Given the description of an element on the screen output the (x, y) to click on. 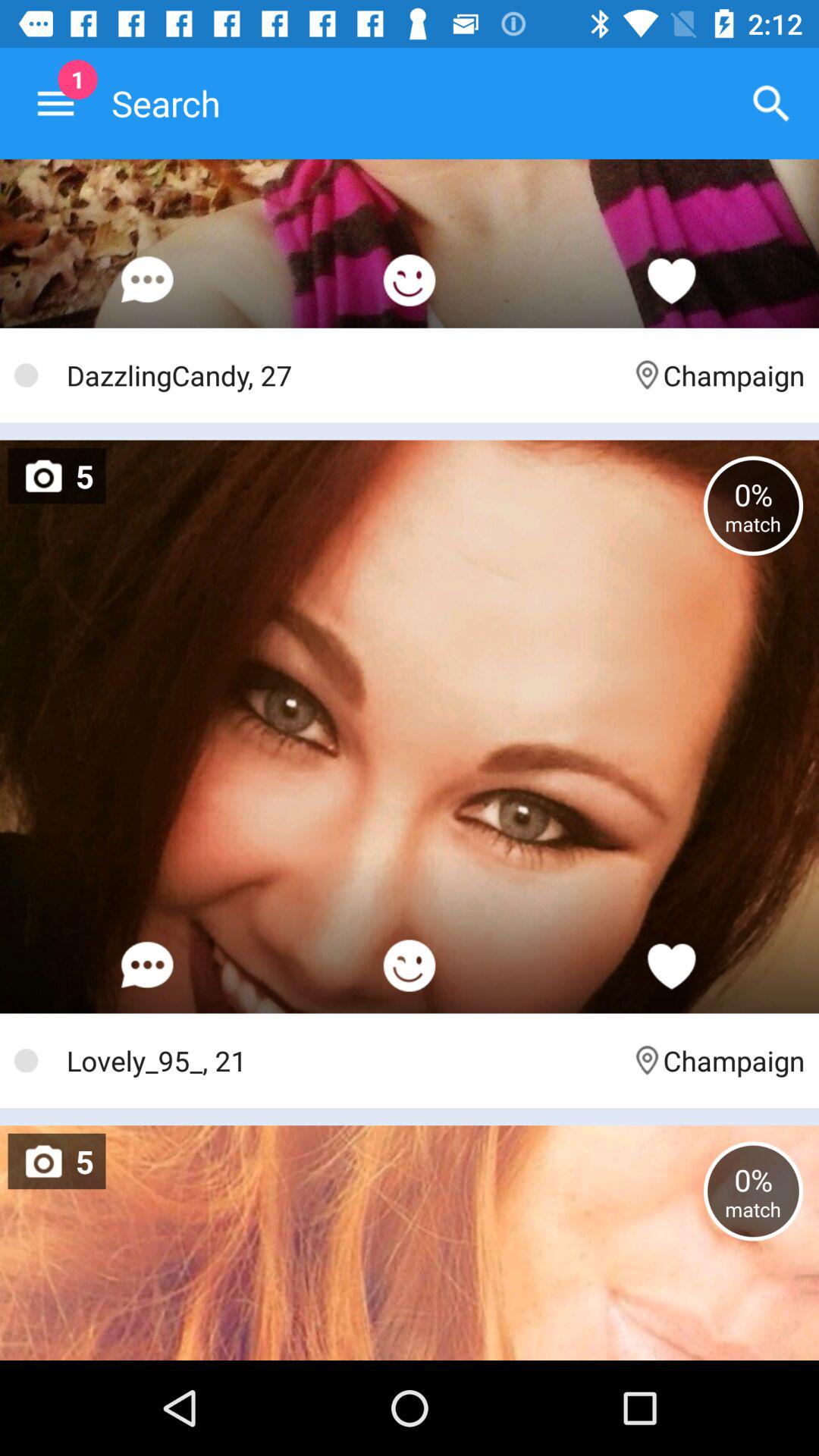
launch the icon next to the champaign (341, 1060)
